Given the description of an element on the screen output the (x, y) to click on. 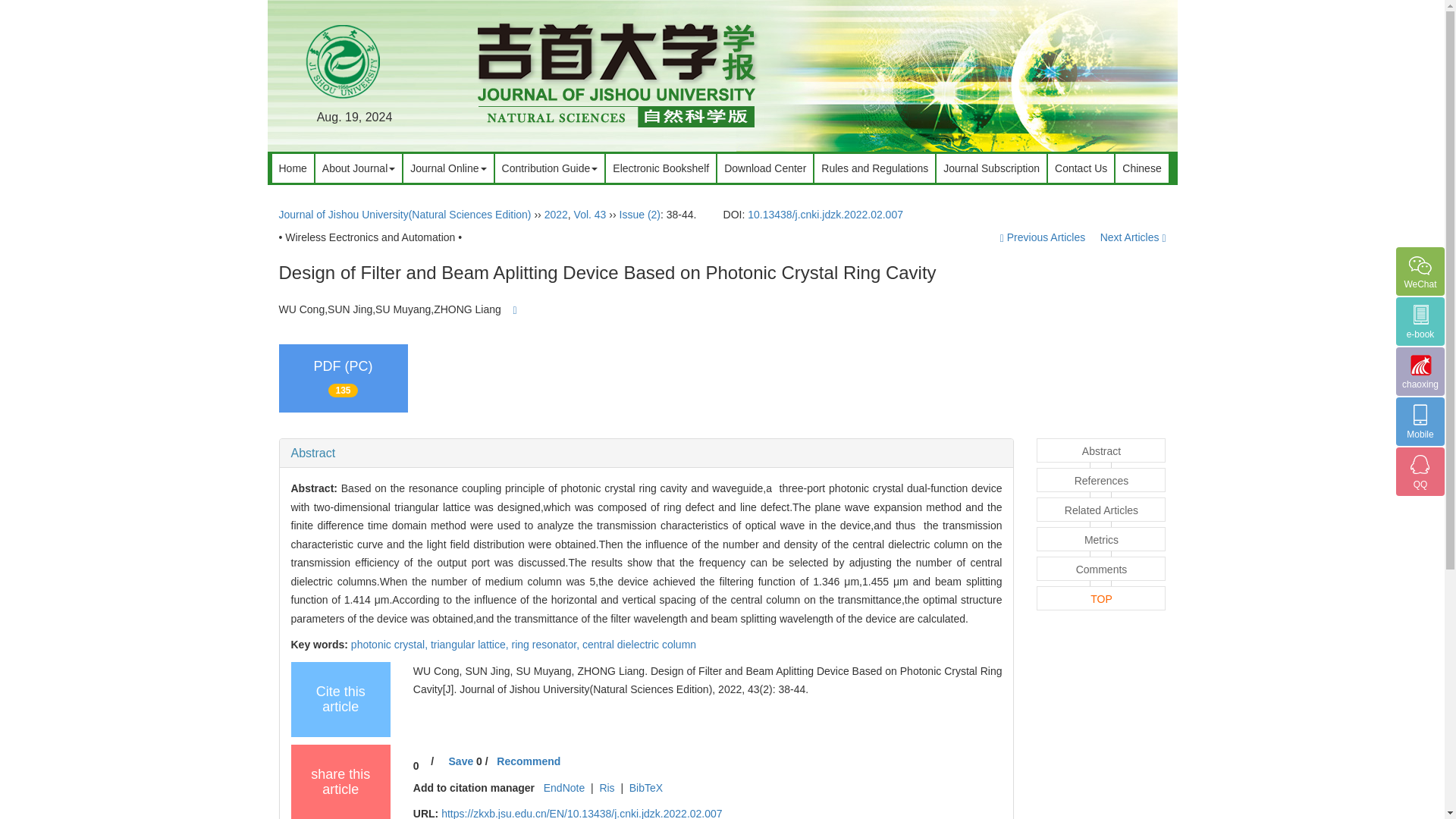
About Journal (358, 167)
Home (291, 167)
Chinese (1141, 167)
Journal Online (448, 167)
triangular lattice, (471, 644)
Vol. 43 (590, 214)
Contact Us (1080, 167)
Electronic Bookshelf (660, 167)
TOP (1101, 598)
Contribution Guide (550, 167)
